Given the description of an element on the screen output the (x, y) to click on. 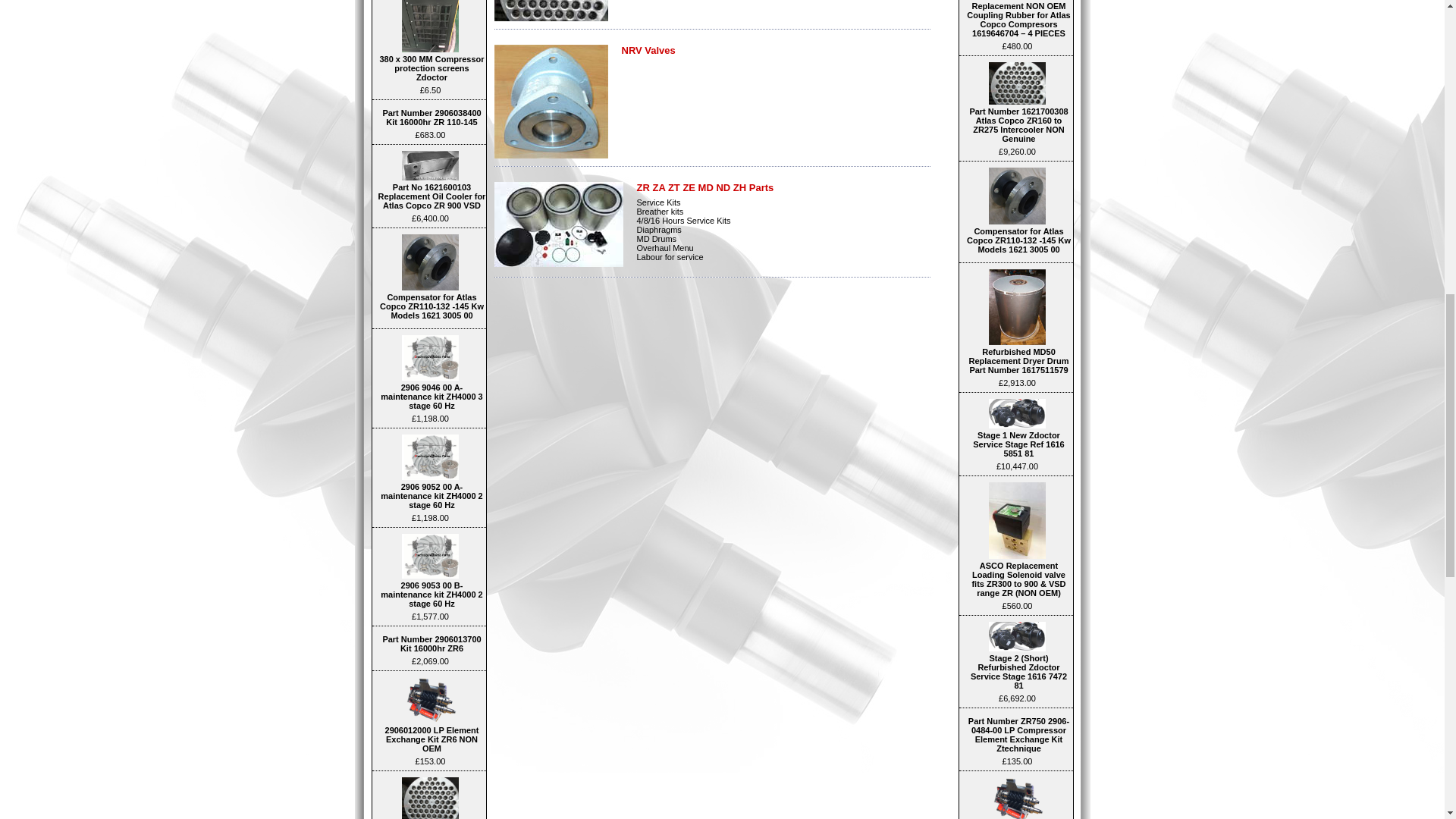
2906 9046 00 A-maintenance kit ZH4000 3 stage 60 Hz (429, 357)
2906 9052 00 A-maintenance kit ZH4000 2 stage 60 Hz (429, 456)
2906 9053 00 B-maintenance kit ZH4000 2 stage 60 Hz (429, 556)
2906012000 LP Element Exchange Kit ZR6 NON OEM (429, 700)
380 x 300 MM Compressor protection screens Zdoctor  (429, 26)
